Given the description of an element on the screen output the (x, y) to click on. 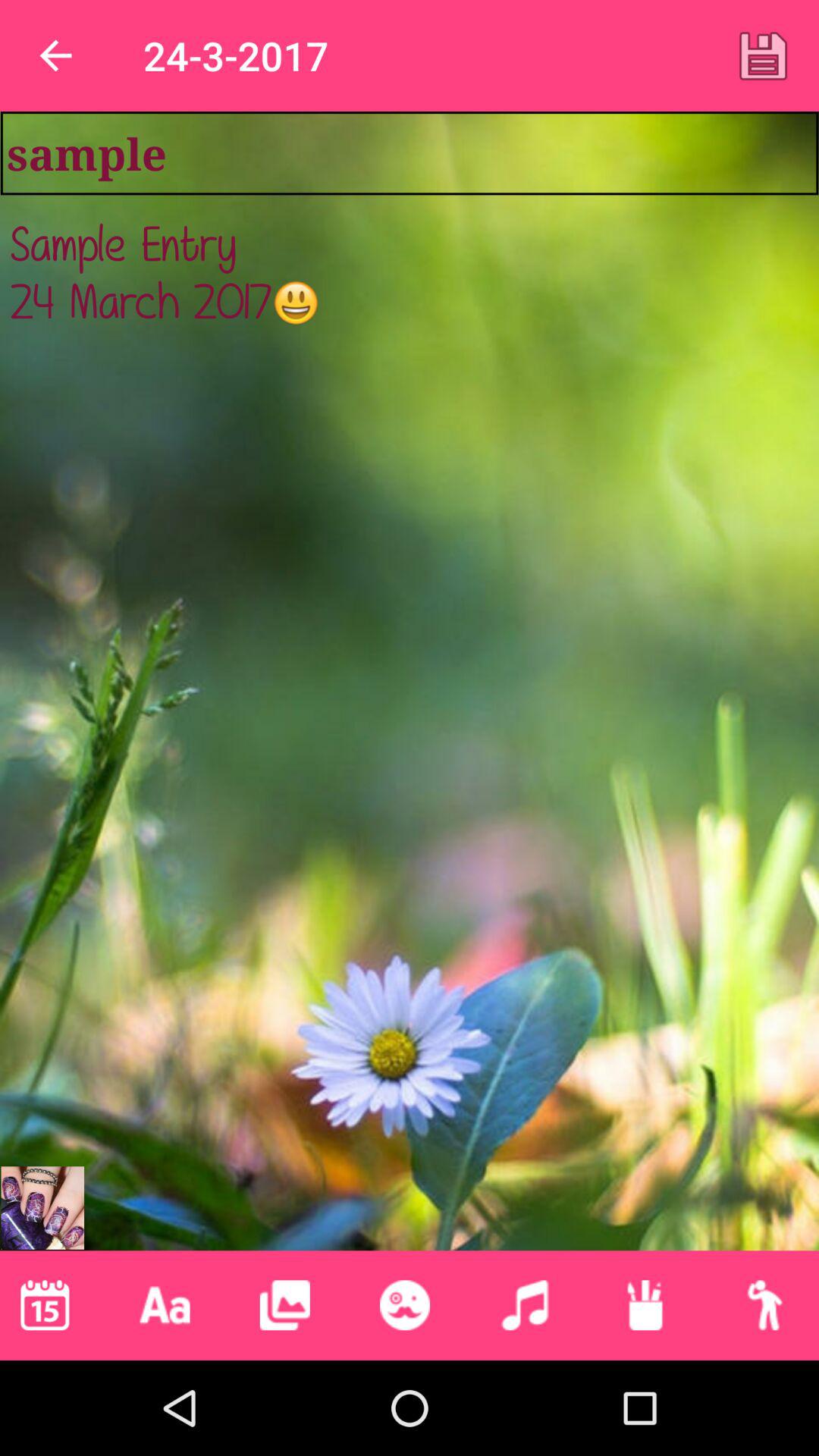
calendar (44, 1305)
